Given the description of an element on the screen output the (x, y) to click on. 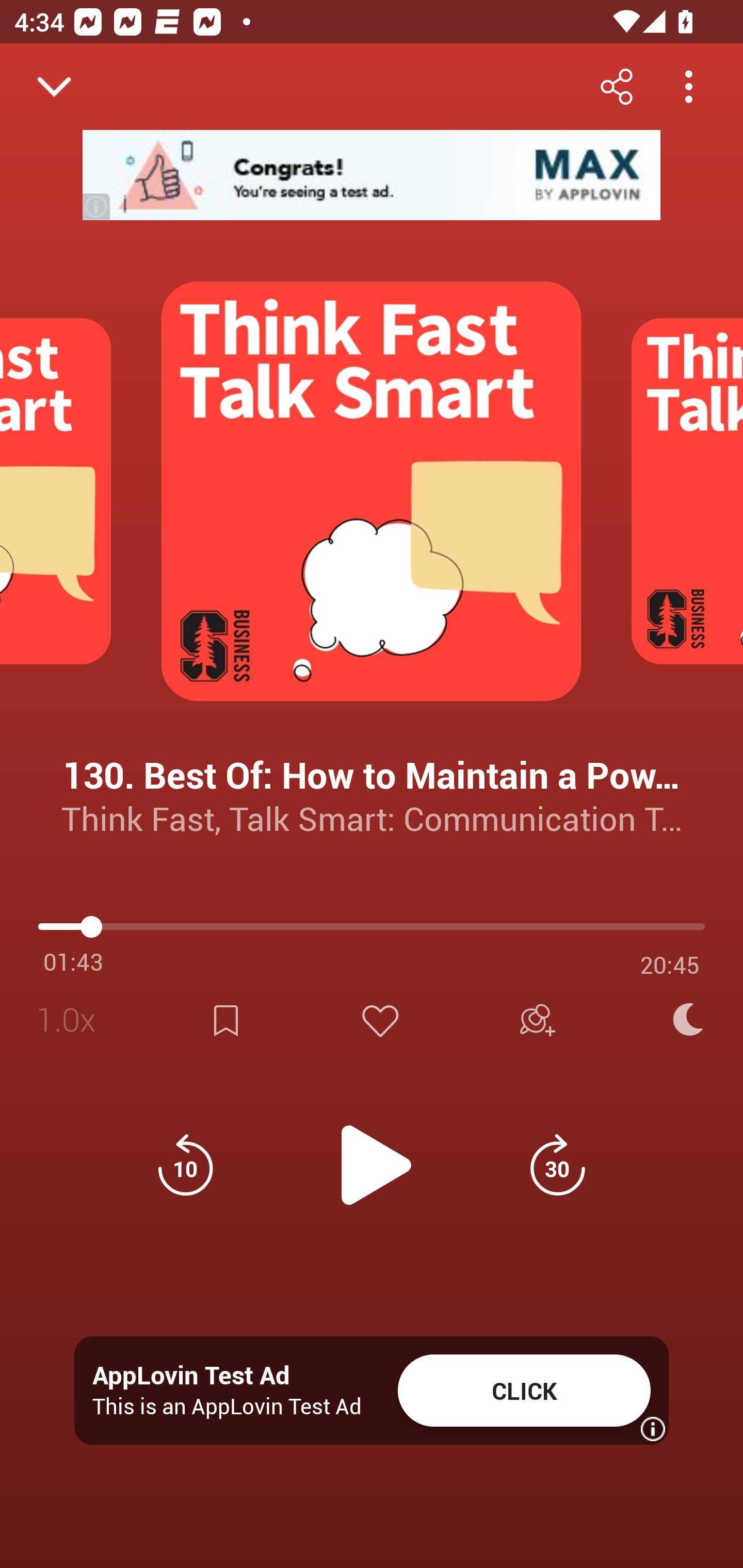
Close fullscreen player (54, 86)
Share (616, 86)
More options (688, 86)
app-monetization (371, 175)
(i) (96, 206)
Think Fast, Talk Smart: Communication Techniques (371, 818)
20:45 (669, 964)
1.0x Speed (72, 1020)
Like (380, 1020)
Play button (371, 1153)
Jump back (185, 1164)
Jump forward (557, 1164)
CLICK (523, 1390)
AppLovin Test Ad (191, 1375)
This is an AppLovin Test Ad (226, 1406)
